Given the description of an element on the screen output the (x, y) to click on. 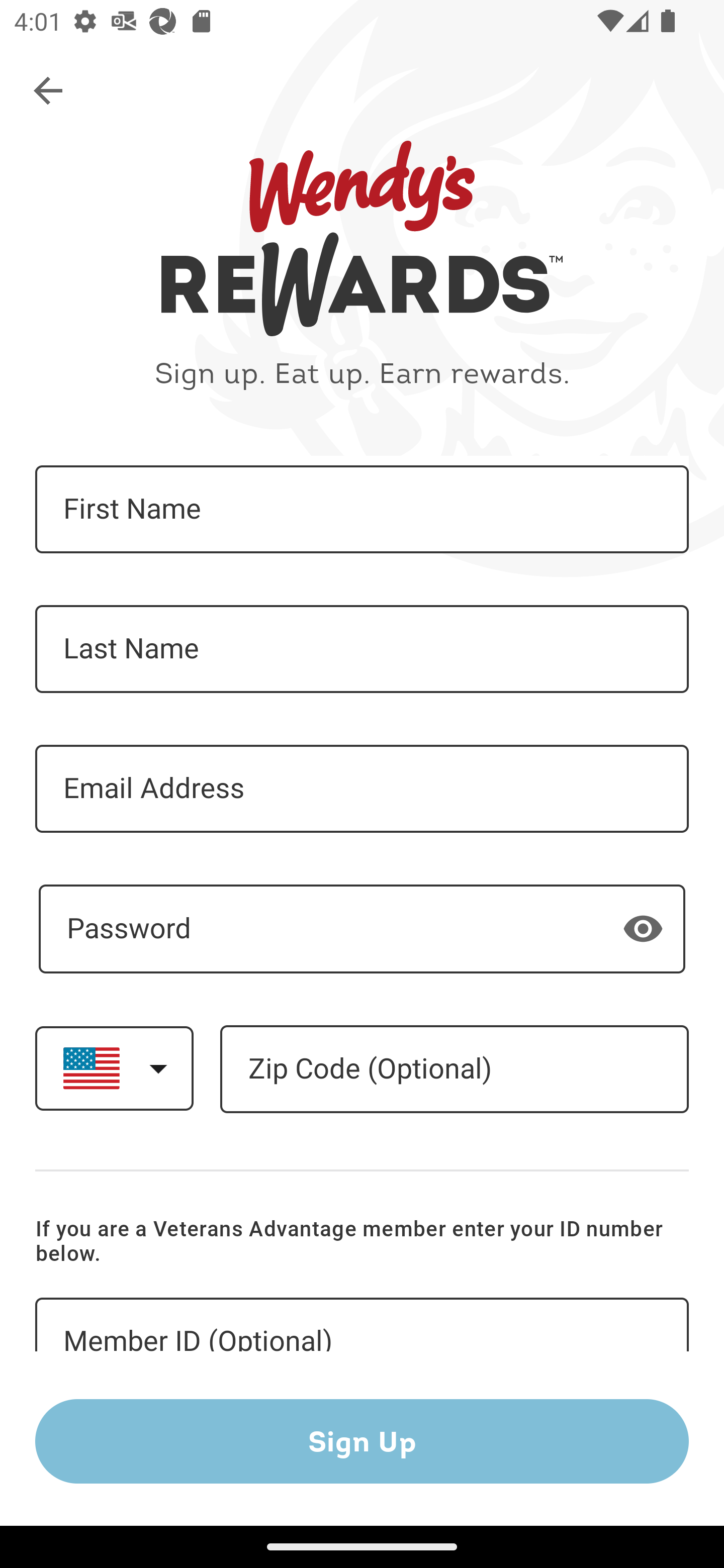
Navigate up (49, 91)
First Name - Required (361, 509)
Last Name - Required (361, 649)
Email Address - Required (361, 788)
- Required (361, 928)
Show password (642, 927)
Zip Code – Optional (454, 1069)
Select a country. United States selected. (114, 1067)
Veterans Advantage ID – Optional (361, 1324)
Sign Up (361, 1440)
